Given the description of an element on the screen output the (x, y) to click on. 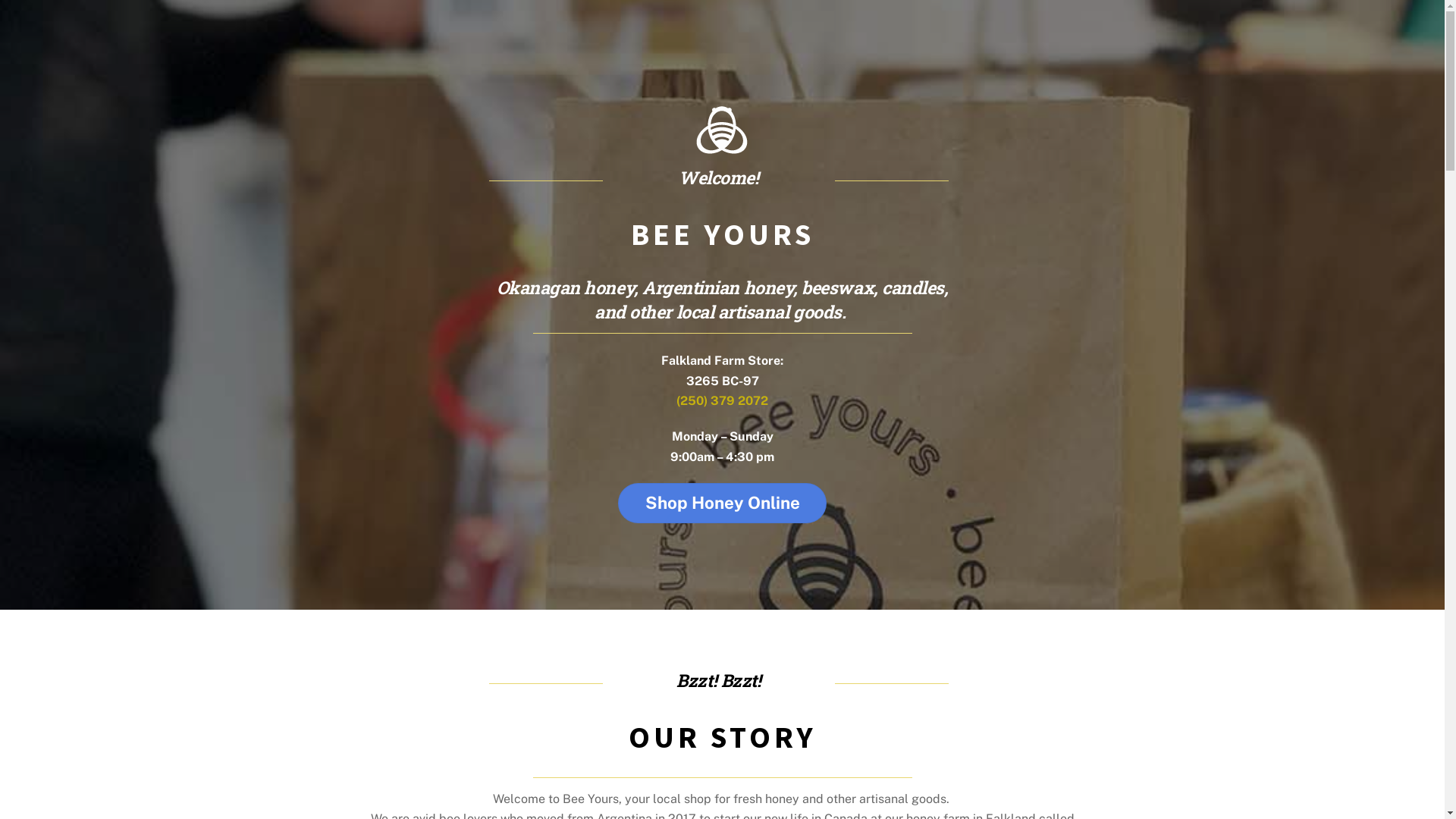
Home Element type: hover (722, 129)
(250) 379 2072 Element type: text (722, 400)
Shop Honey Online Element type: text (722, 503)
